Given the description of an element on the screen output the (x, y) to click on. 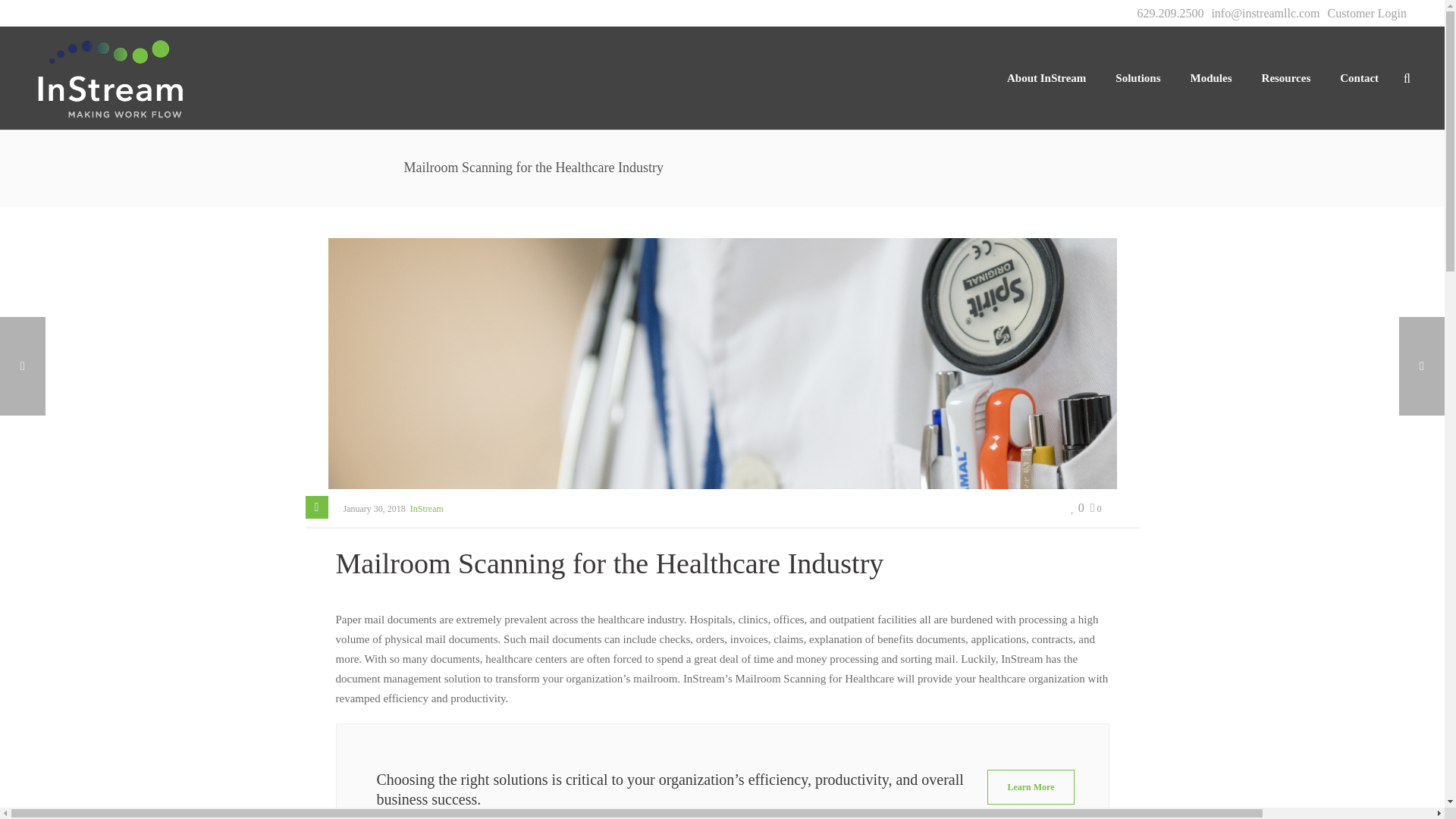
InStream (109, 77)
Customer Login (1366, 13)
About InStream (1046, 77)
629.209.2500 (1170, 13)
